Given the description of an element on the screen output the (x, y) to click on. 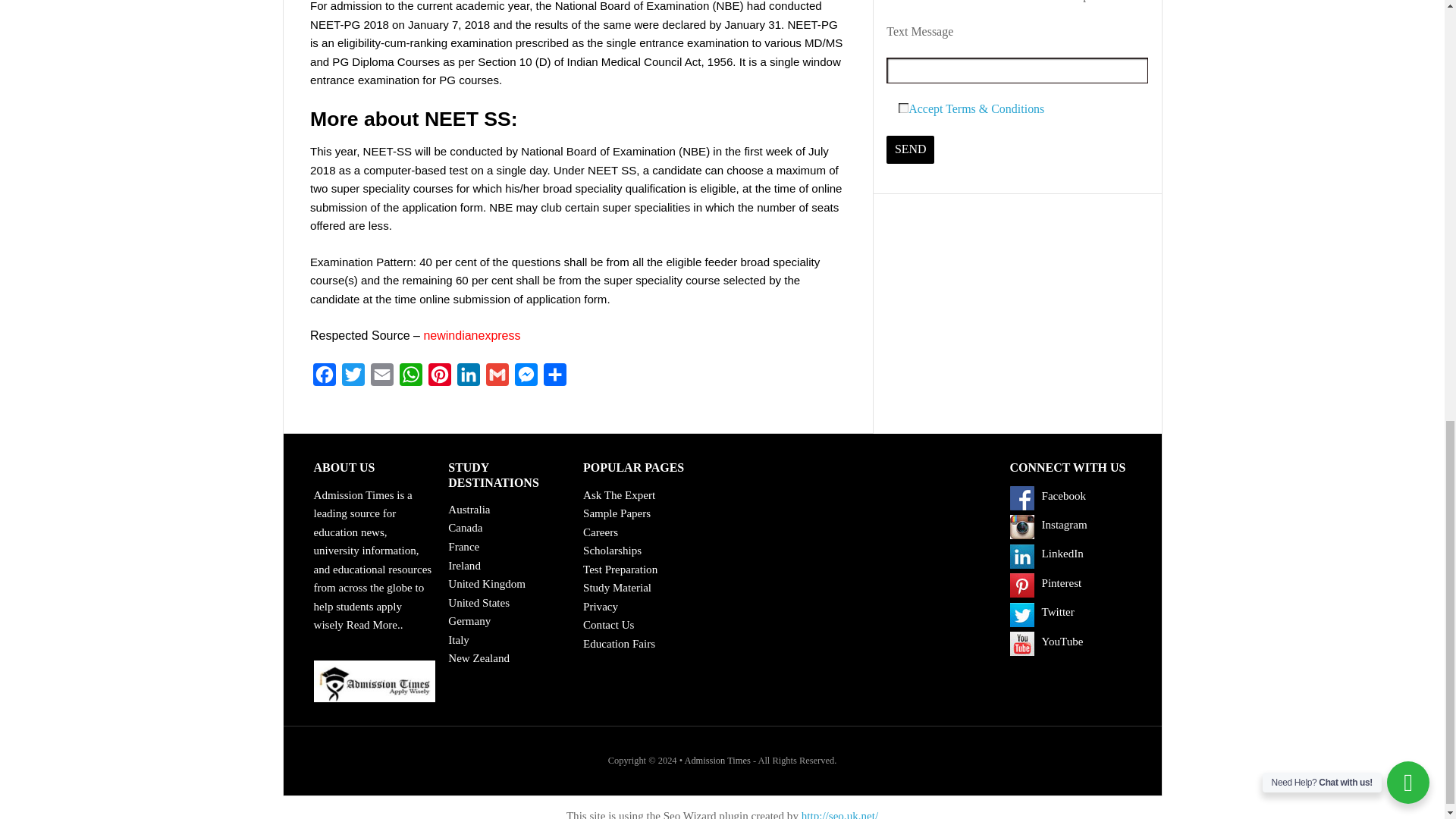
Facebook (1021, 498)
LinkedIn (468, 378)
Email (382, 378)
Facebook (324, 378)
Twitter (353, 378)
Send (910, 149)
Gmail (497, 378)
1 (903, 108)
WhatsApp (410, 378)
Messenger (526, 378)
